Given the description of an element on the screen output the (x, y) to click on. 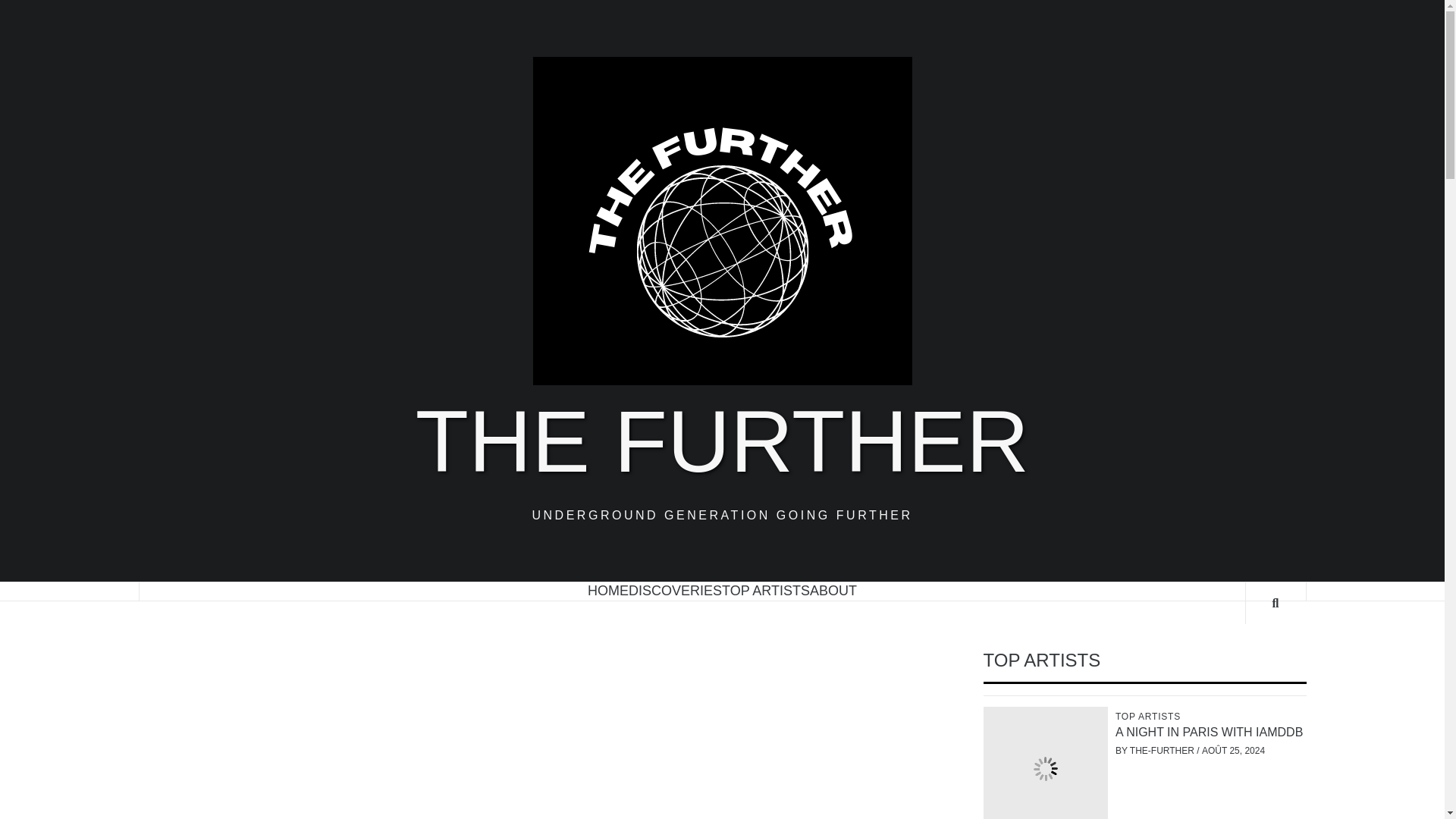
TOP ARTISTS (765, 589)
HOME (608, 589)
A NIGHT IN PARIS WITH IAMDDB (1209, 731)
THE-FURTHER (1162, 750)
THE FURTHER (722, 441)
ABOUT (833, 589)
TOP ARTISTS (1150, 716)
DISCOVERIES (675, 589)
